Given the description of an element on the screen output the (x, y) to click on. 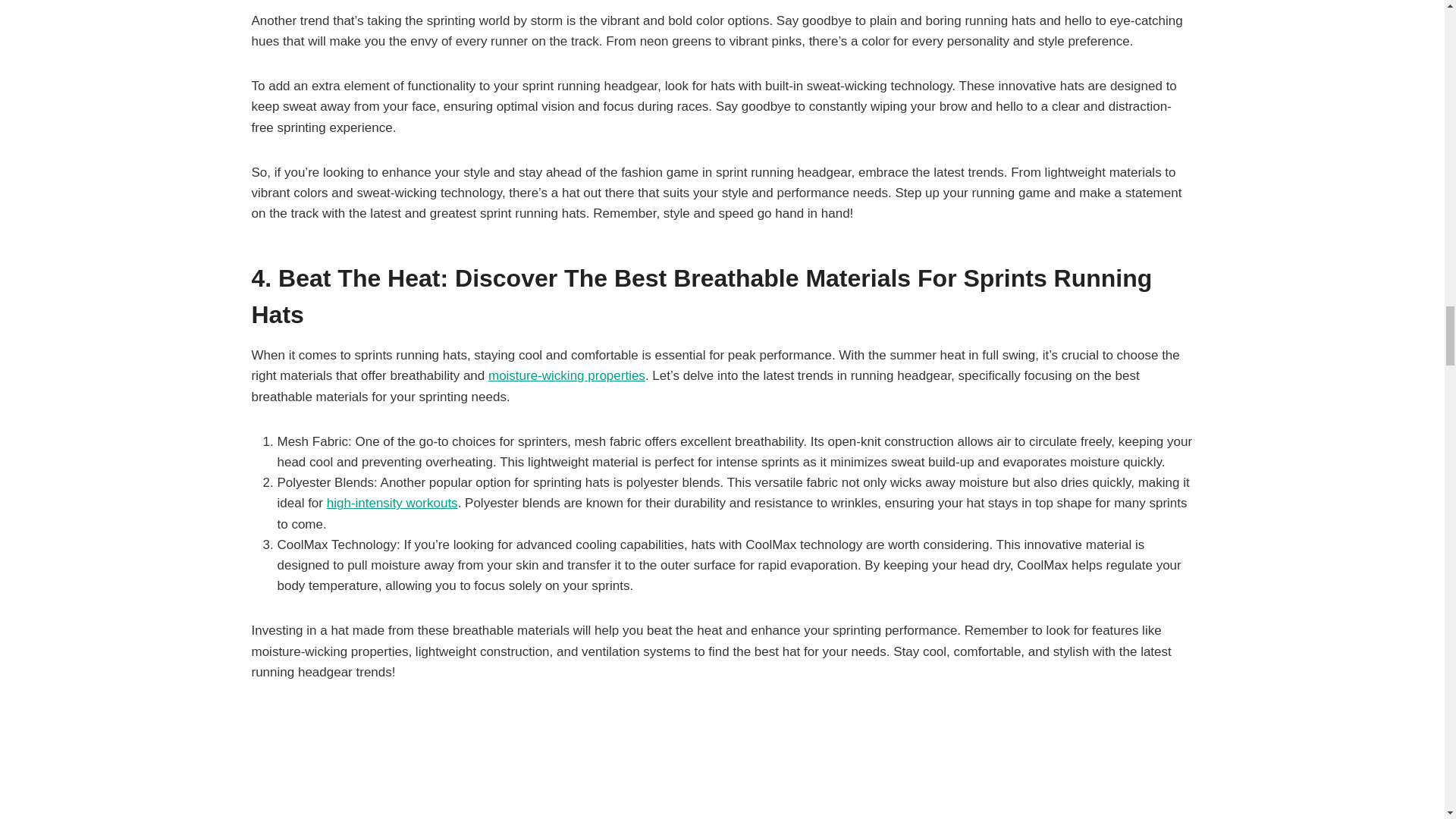
high-intensity workouts (392, 503)
moisture-wicking properties (566, 375)
Sprints Hats: Enhance Your Racing Spirit with Stylish Hats! (566, 375)
Sprints and Testosterone: Exploring the Fitness Connection! (392, 503)
